Given the description of an element on the screen output the (x, y) to click on. 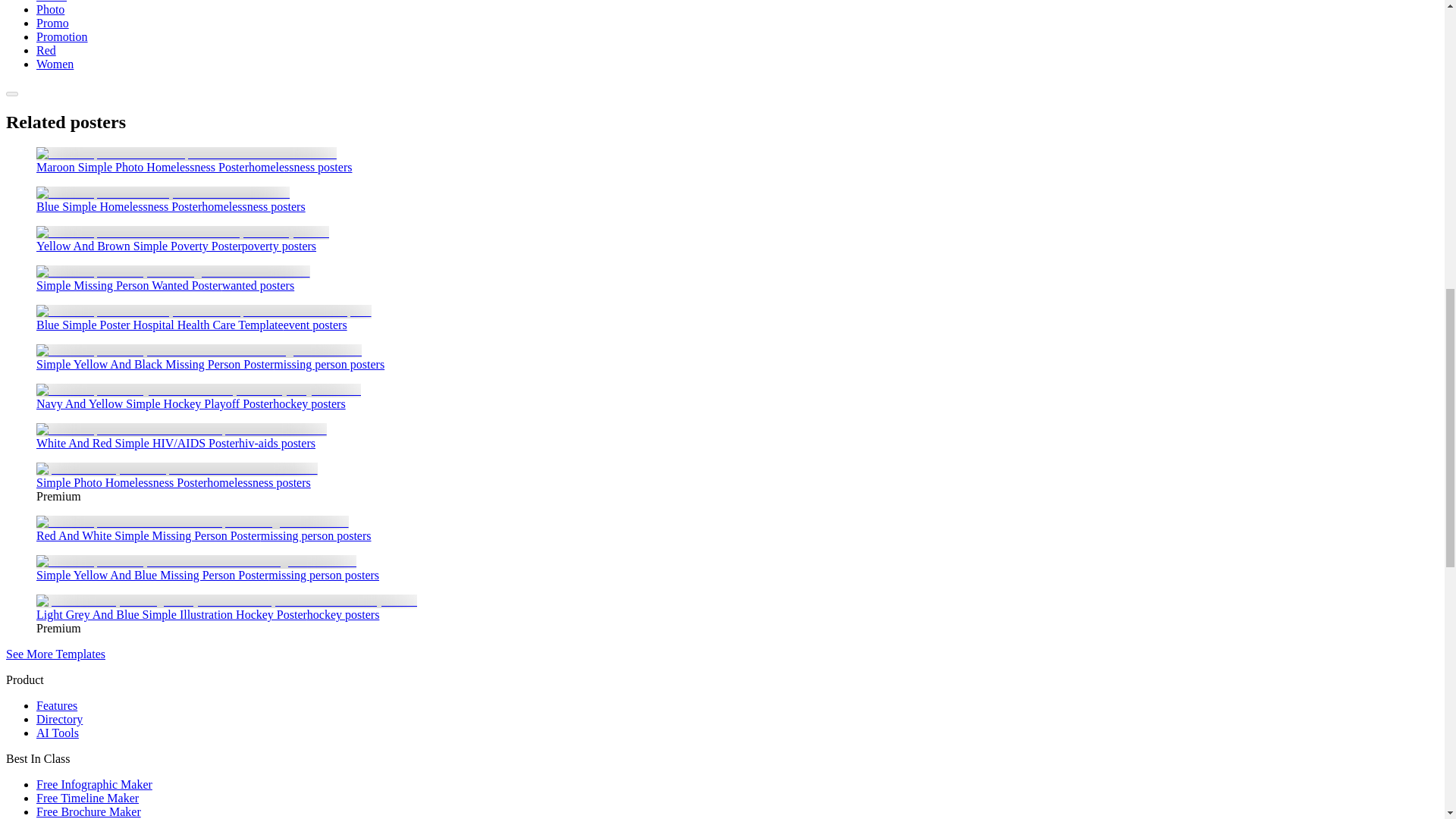
View more templates in the 'wanted posters' category. (258, 285)
poverty posters (278, 245)
View more templates in the 'homelessness posters' category. (253, 205)
View more templates in the 'homelessness posters' category. (300, 166)
Yellow And Brown Simple Poverty Poster (138, 245)
Blue Simple Poster Hospital Health Care Template (159, 324)
Promotion (61, 36)
Yellow And Brown Simple Poverty Poster (138, 245)
Maroon Simple Photo Homelessness Poster (142, 166)
homelessness posters (253, 205)
Phone (51, 1)
Yellow And Brown Simple Poverty Poster (182, 232)
Blue Simple Homelessness Poster (162, 192)
Promo (52, 22)
Simple Yellow And Black Missing Person Poster (198, 350)
